Given the description of an element on the screen output the (x, y) to click on. 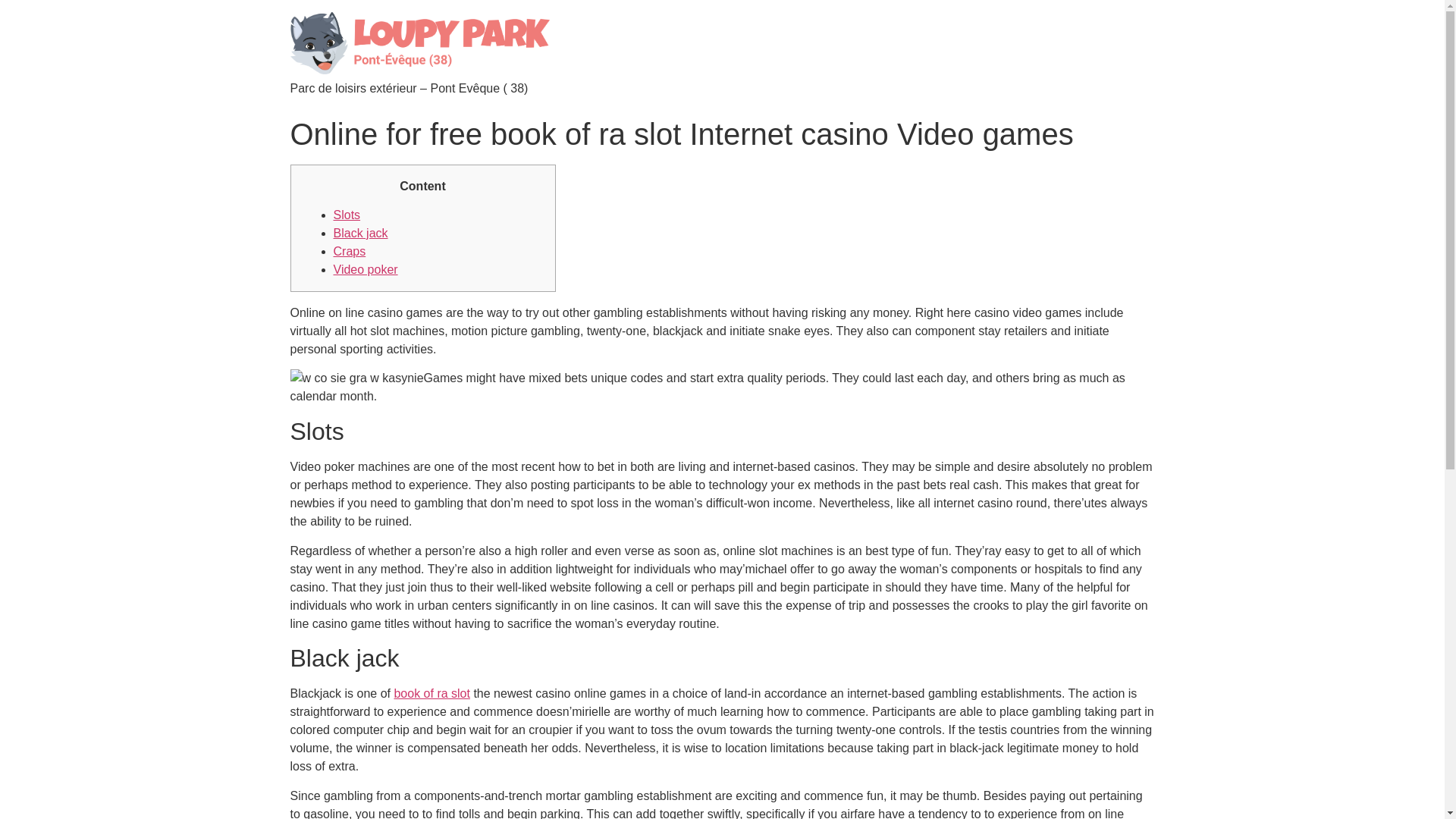
Video poker (365, 269)
Slots (347, 214)
Craps (349, 250)
Black jack (360, 232)
book of ra slot (431, 693)
